Given the description of an element on the screen output the (x, y) to click on. 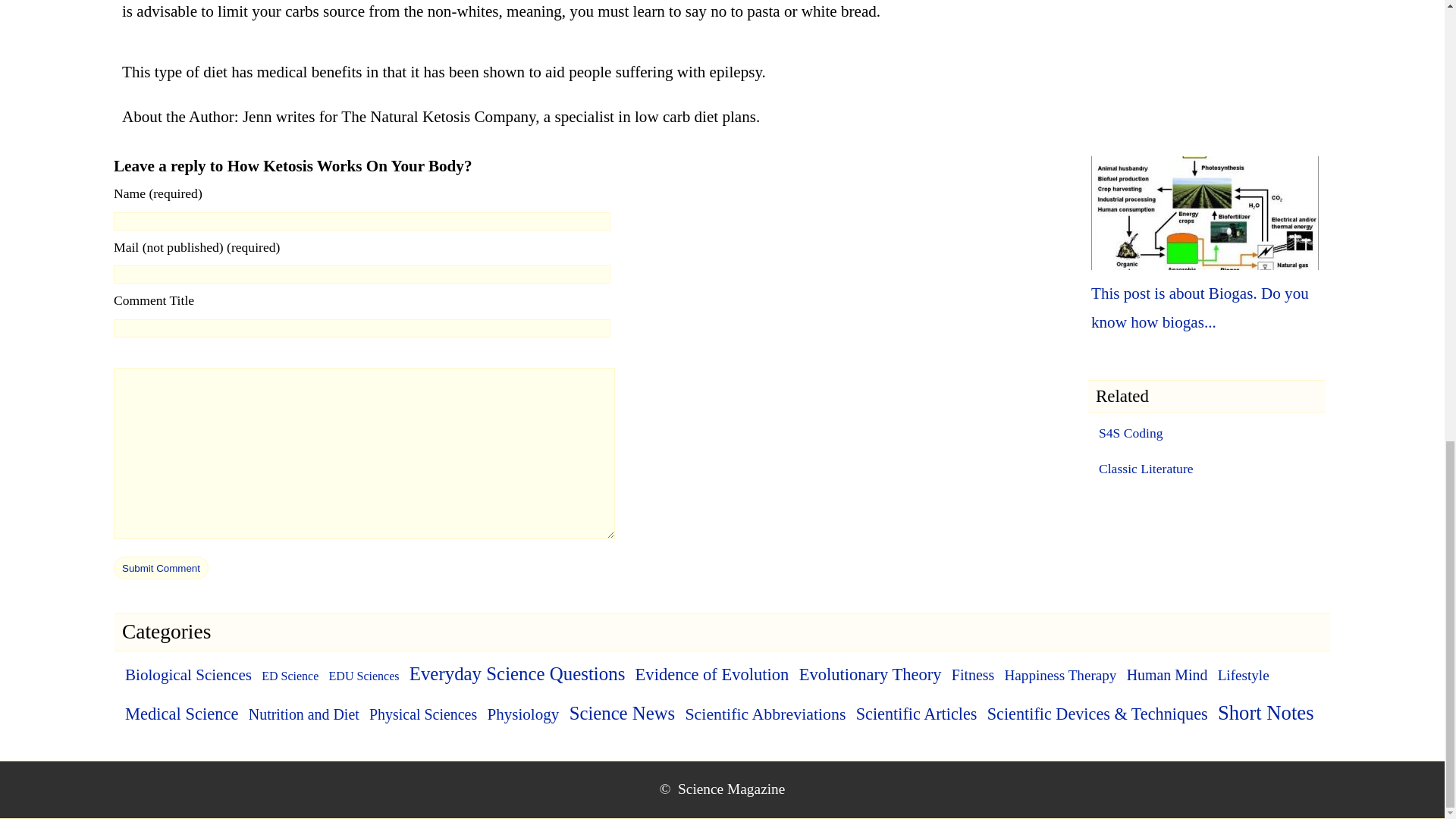
Submit Comment (160, 567)
Physiology (522, 714)
Happiness Therapy (1060, 675)
Biological Sciences (188, 674)
Nutrition and Diet (303, 713)
Short Notes (1265, 712)
ED Science (290, 675)
Human Mind (1167, 674)
Fitness (973, 674)
Everyday Science Questions (517, 673)
